Given the description of an element on the screen output the (x, y) to click on. 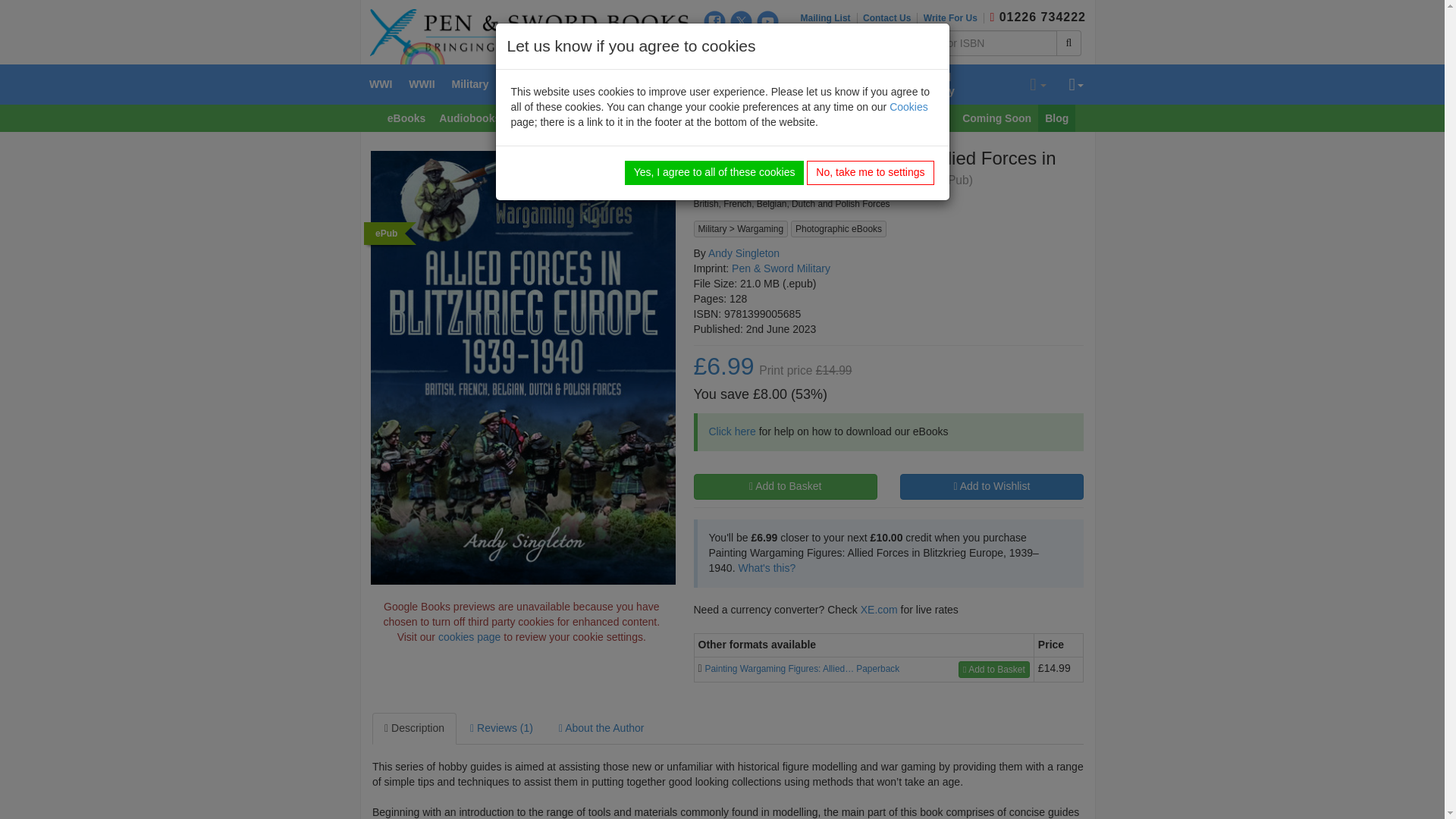
Your basket is empty (1037, 84)
Contact Us (890, 18)
Mailing List (828, 18)
TikTok (741, 45)
Instagram (714, 45)
Facebook (714, 21)
Write For Us (953, 18)
NetGalley (767, 45)
YouTube (767, 21)
X (741, 21)
